Given the description of an element on the screen output the (x, y) to click on. 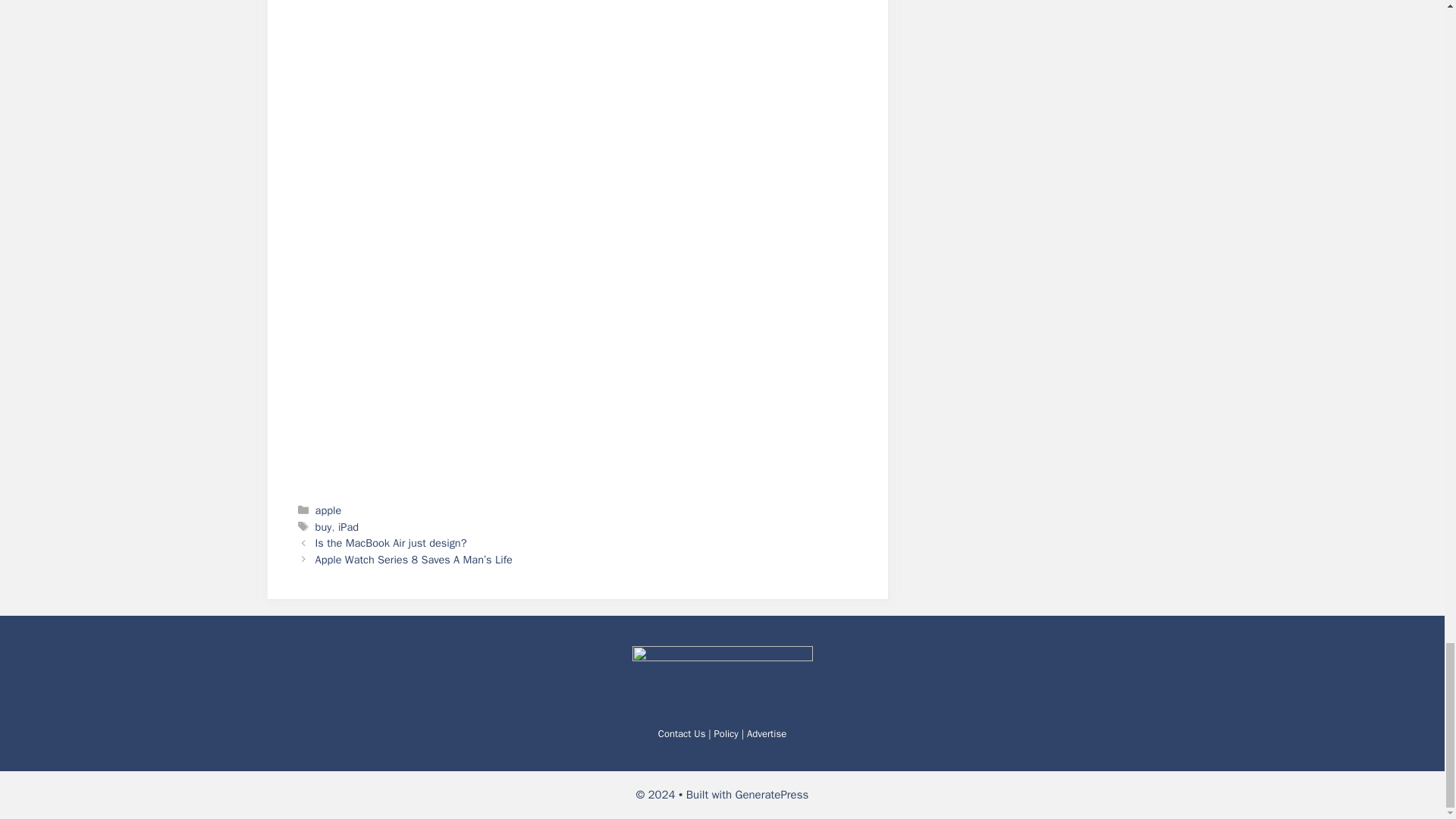
Contact Us (682, 733)
Is the MacBook Air just design? (391, 542)
Policy (726, 733)
Advertise (766, 733)
buy (323, 526)
GeneratePress (772, 794)
iPad (347, 526)
apple (328, 509)
